Given the description of an element on the screen output the (x, y) to click on. 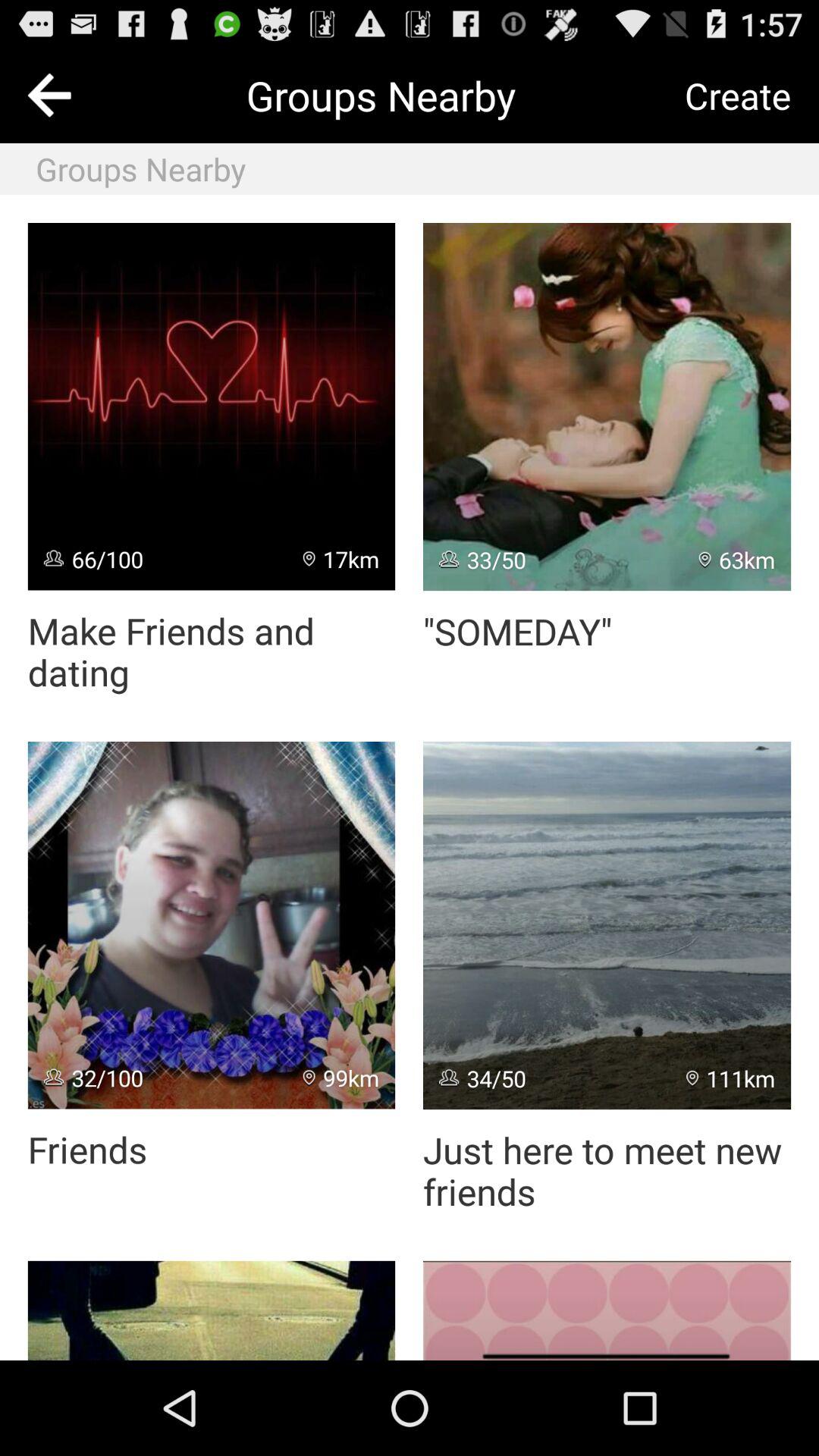
turn off the icon to the right of the 34/50 item (730, 1077)
